Given the description of an element on the screen output the (x, y) to click on. 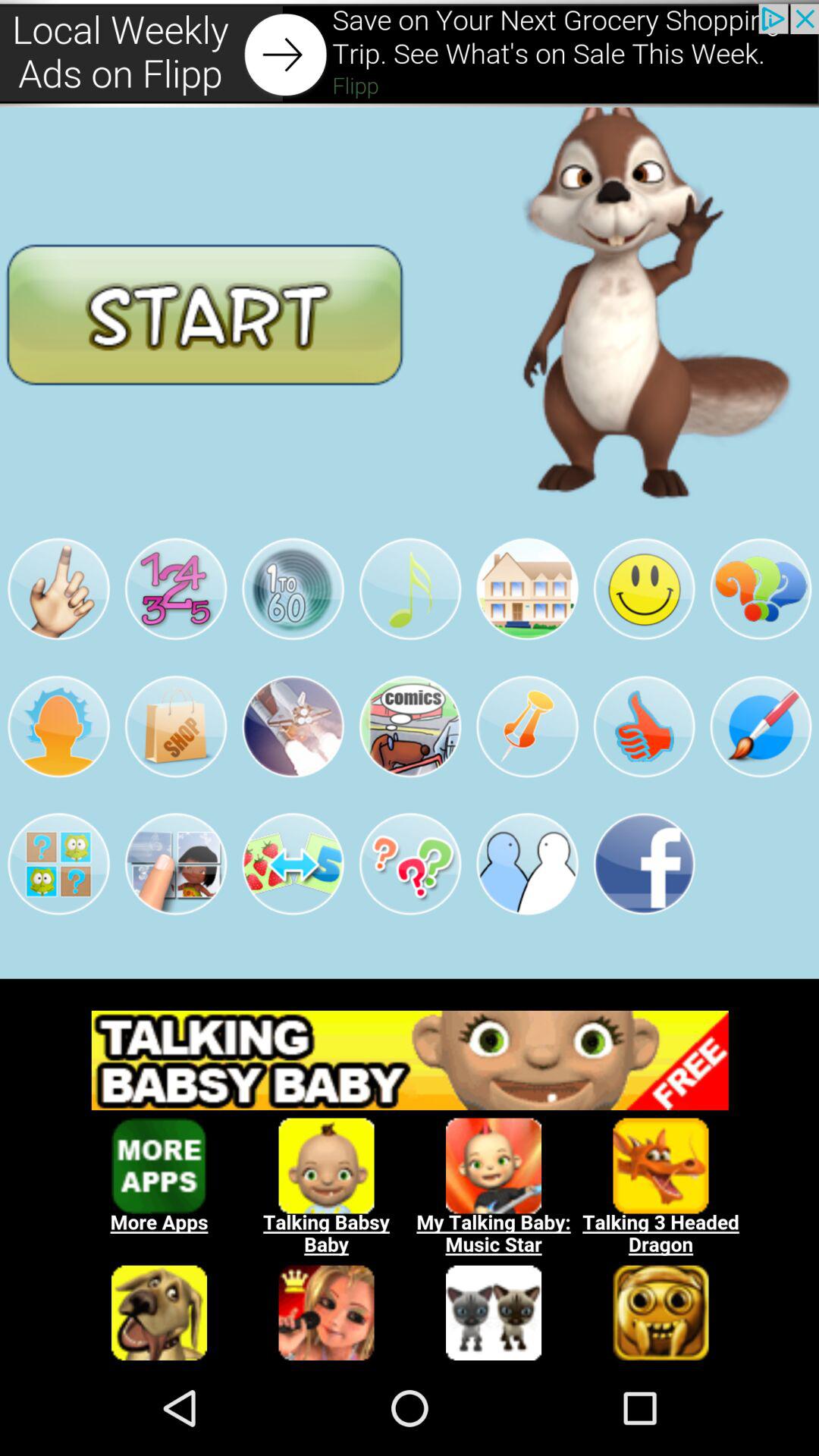
click on shop icon (175, 726)
select the sixth image in the second row (643, 588)
click on the third image in the fourth row (293, 863)
click on second icon below the start button (175, 588)
click on the icon which looks like question marks in the bottom (410, 863)
